Given the description of an element on the screen output the (x, y) to click on. 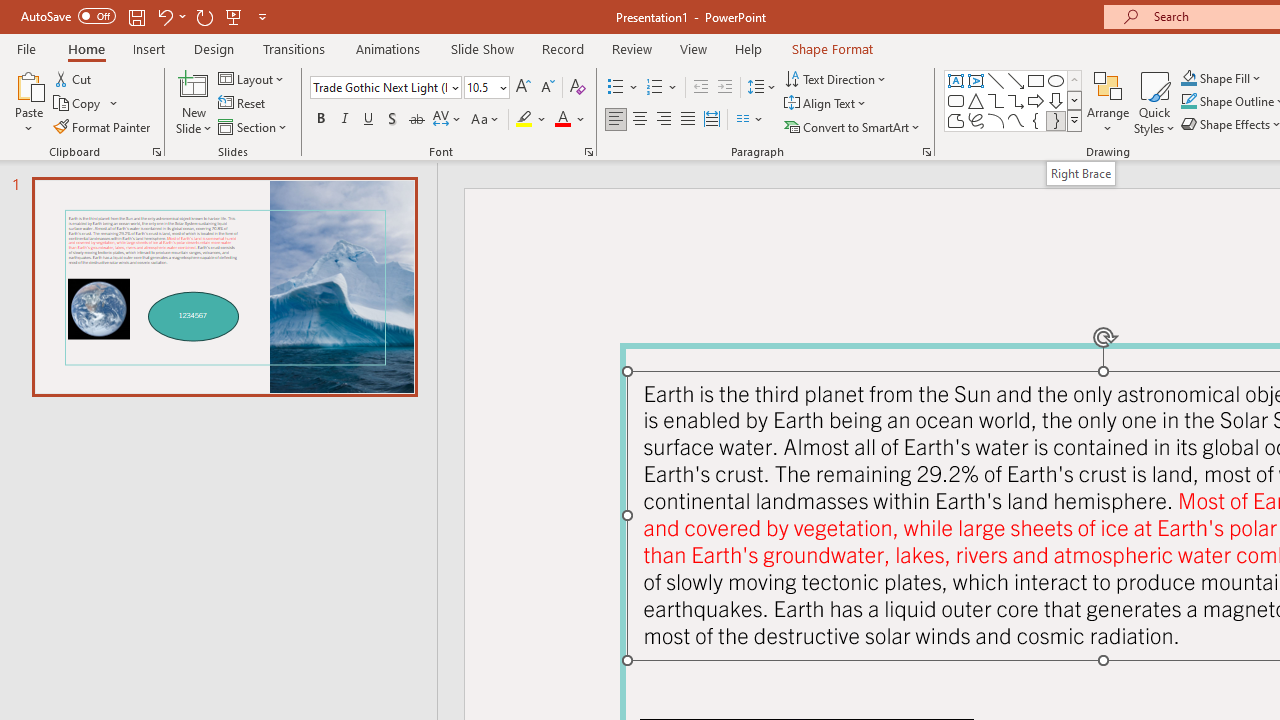
Shape Outline Teal, Accent 1 (1188, 101)
